Given the description of an element on the screen output the (x, y) to click on. 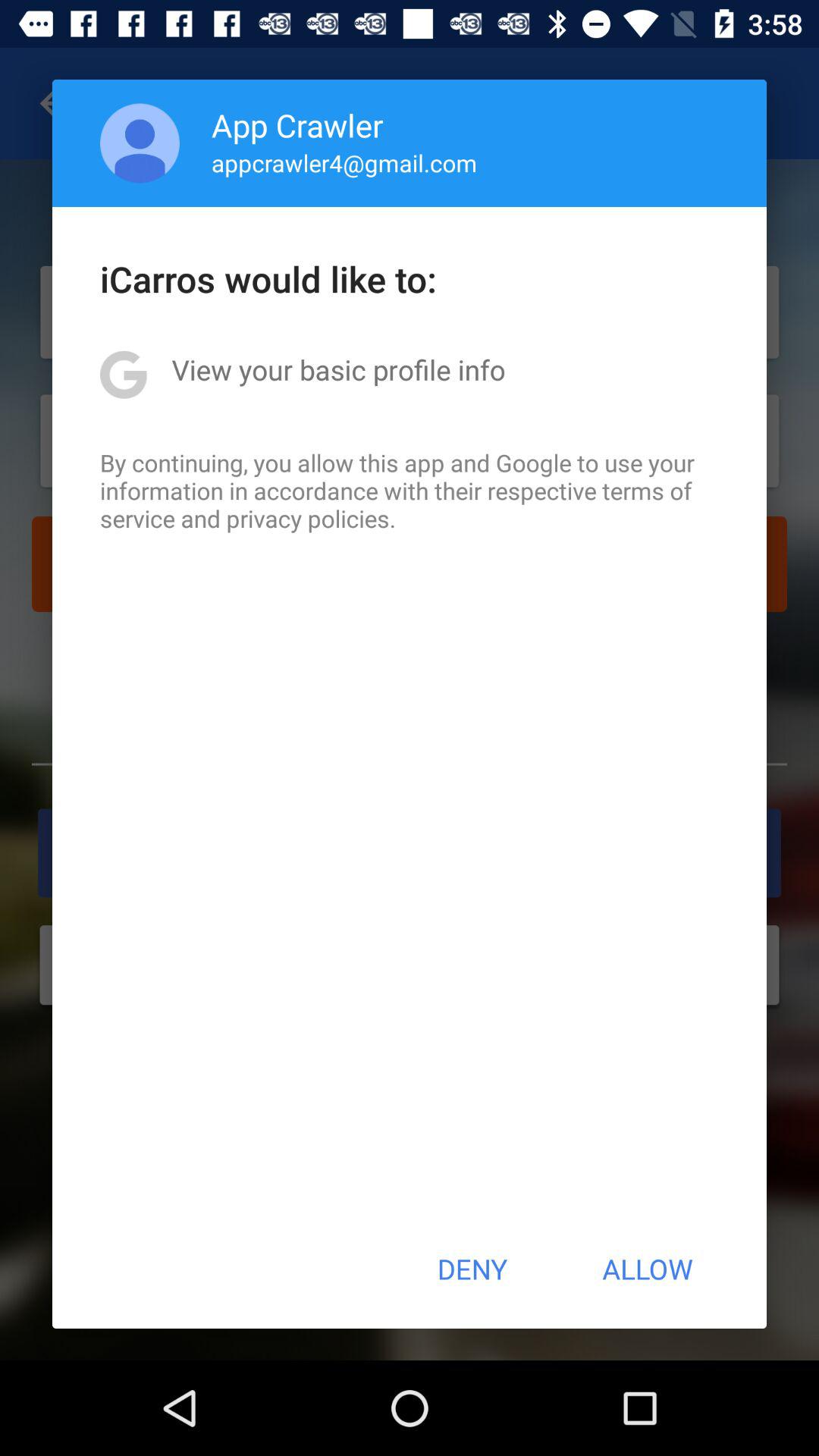
open the app above the icarros would like app (139, 143)
